Given the description of an element on the screen output the (x, y) to click on. 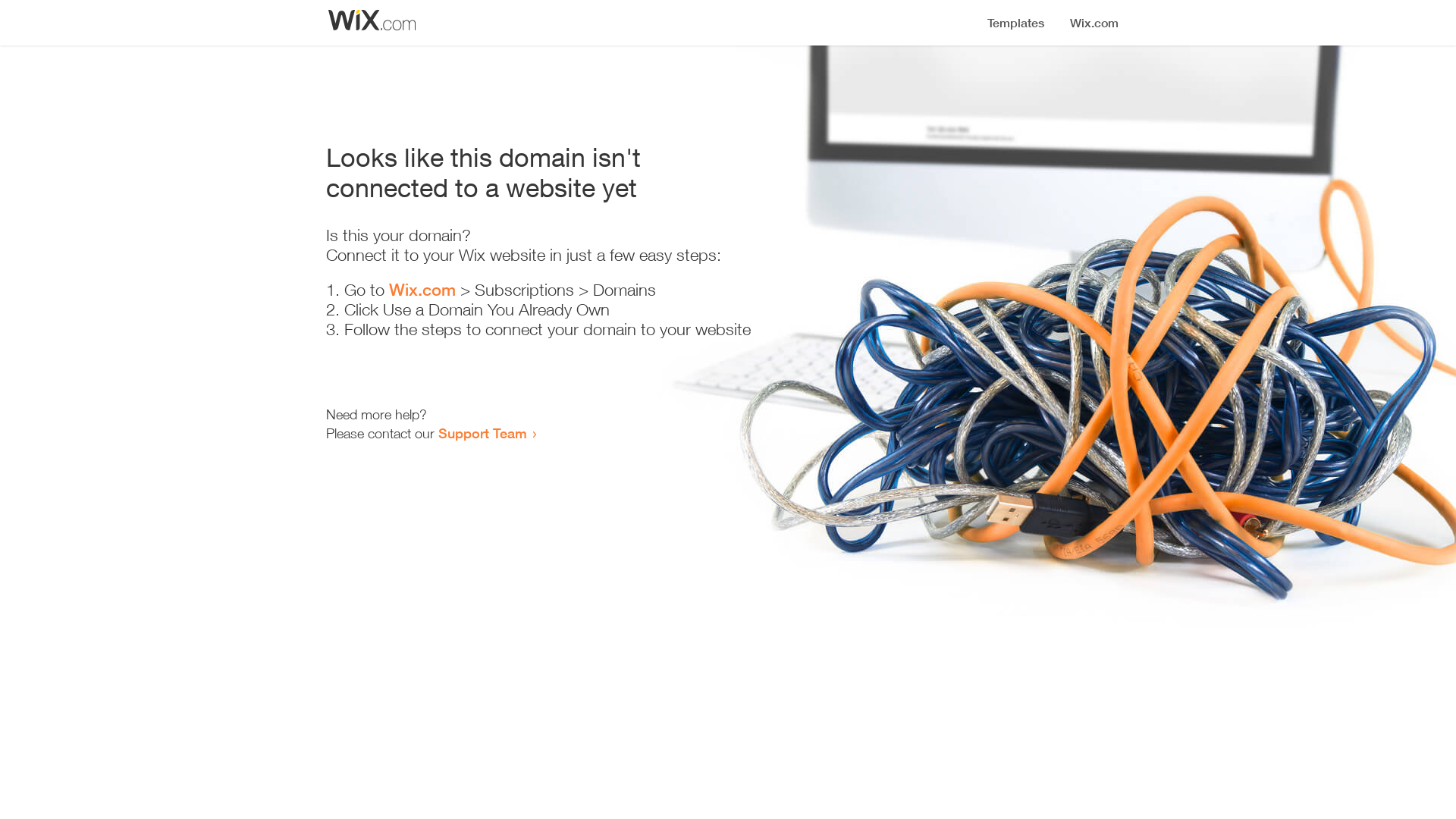
Wix.com Element type: text (422, 289)
Support Team Element type: text (482, 432)
